Given the description of an element on the screen output the (x, y) to click on. 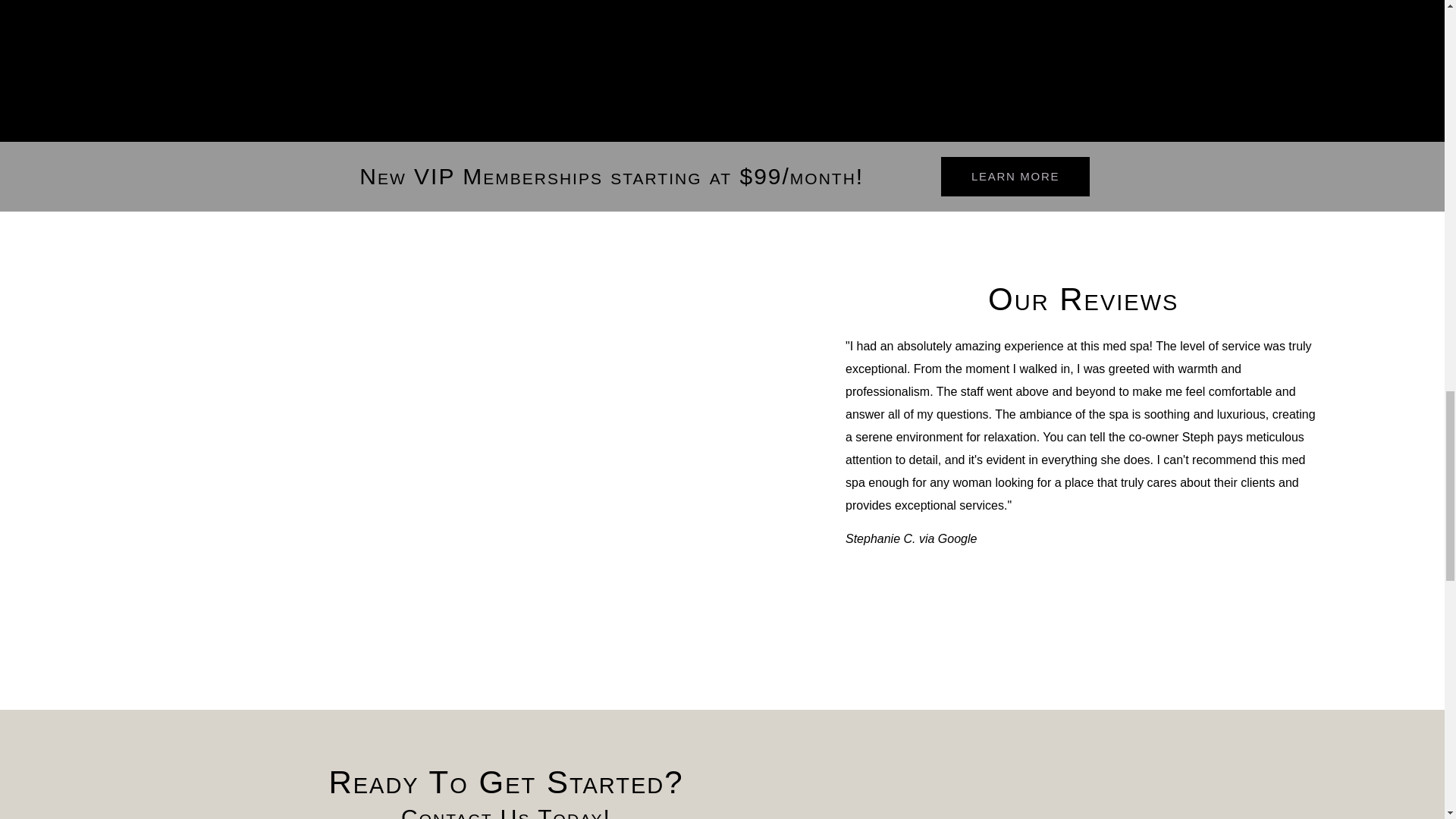
the med spa of flower mound (938, 800)
